Given the description of an element on the screen output the (x, y) to click on. 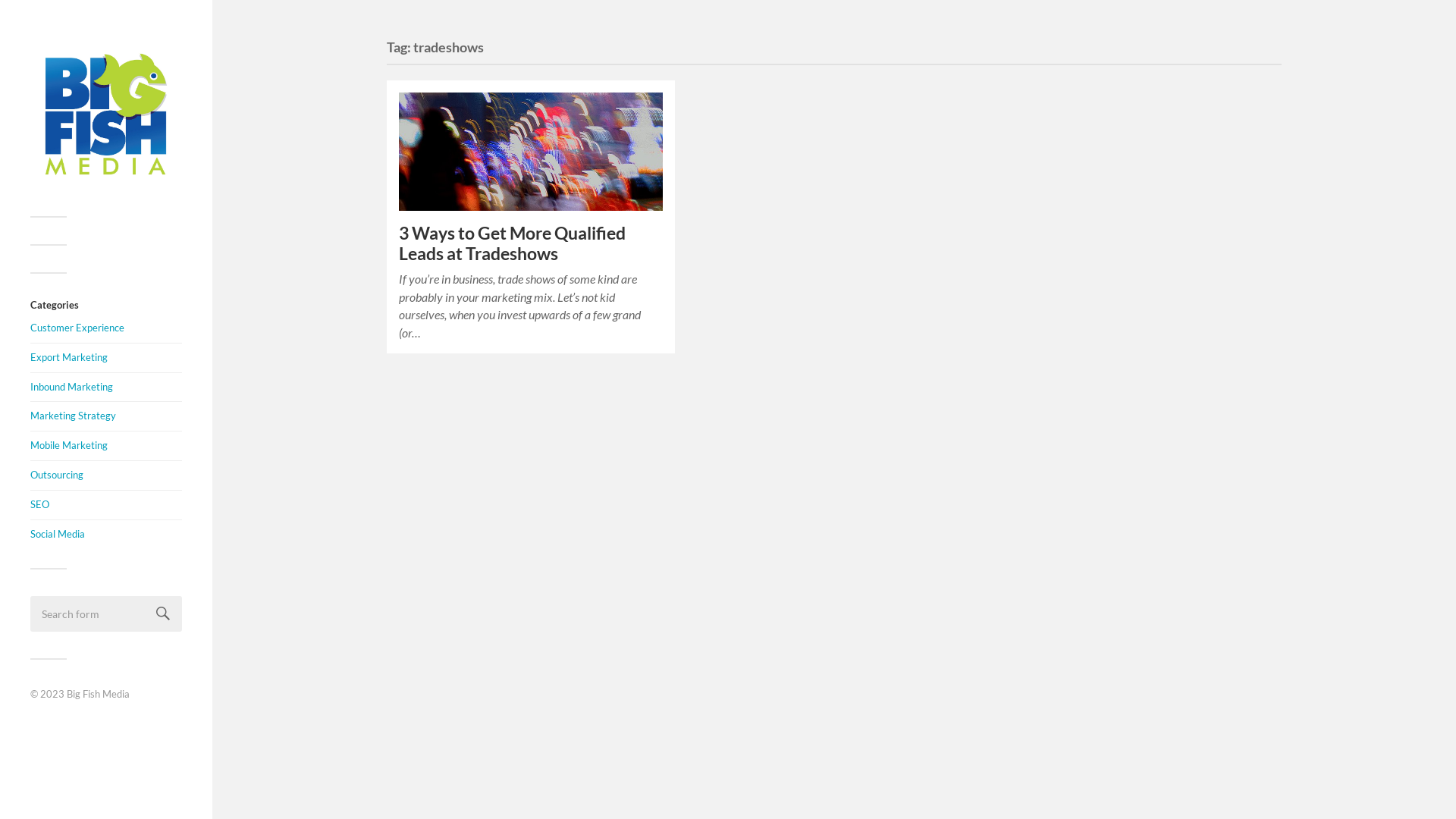
Inbound Marketing Element type: text (71, 386)
Export Marketing Element type: text (68, 357)
Social Media Element type: text (57, 533)
3 Ways to Get More Qualified Leads at Tradeshows Element type: hover (530, 151)
Customer Experience Element type: text (77, 327)
SEO Element type: text (39, 504)
Outsourcing Element type: text (56, 474)
3 Ways to Get More Qualified Leads at Tradeshows Element type: text (511, 242)
Big Fish Media Element type: text (97, 693)
Marketing Strategy Element type: text (73, 415)
Mobile Marketing Element type: text (68, 445)
